Given the description of an element on the screen output the (x, y) to click on. 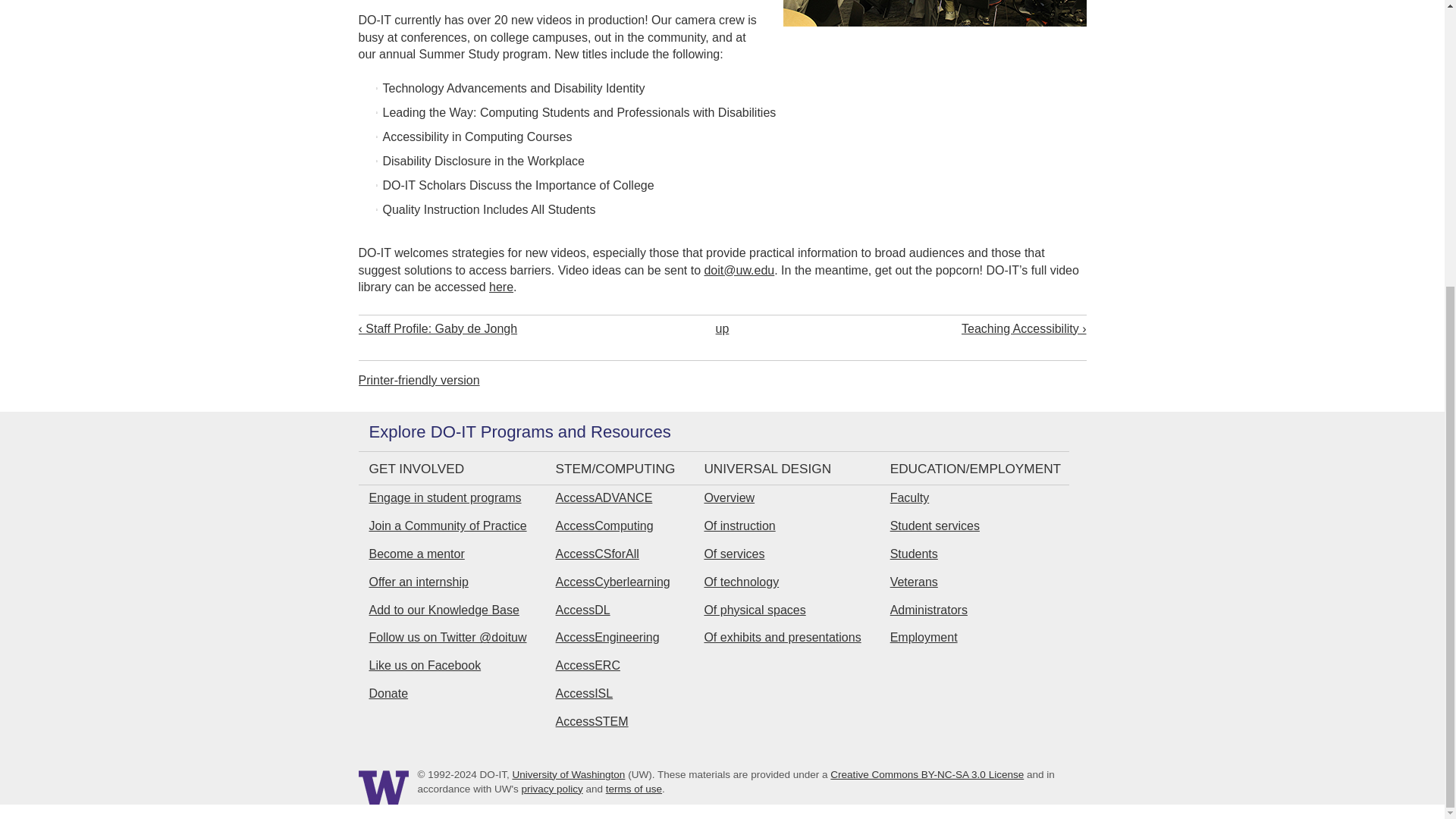
Go to parent page (722, 328)
Like us on Facebook (424, 665)
AccessComputing (604, 525)
Become a mentor (416, 553)
Go to previous page (503, 328)
Join a Community of Practice (446, 525)
Printer-friendly version (418, 379)
Offer an internship (417, 581)
here (501, 286)
Engage in student programs (444, 497)
Donate (387, 693)
Add to our Knowledge Base (443, 609)
up (722, 328)
